Given the description of an element on the screen output the (x, y) to click on. 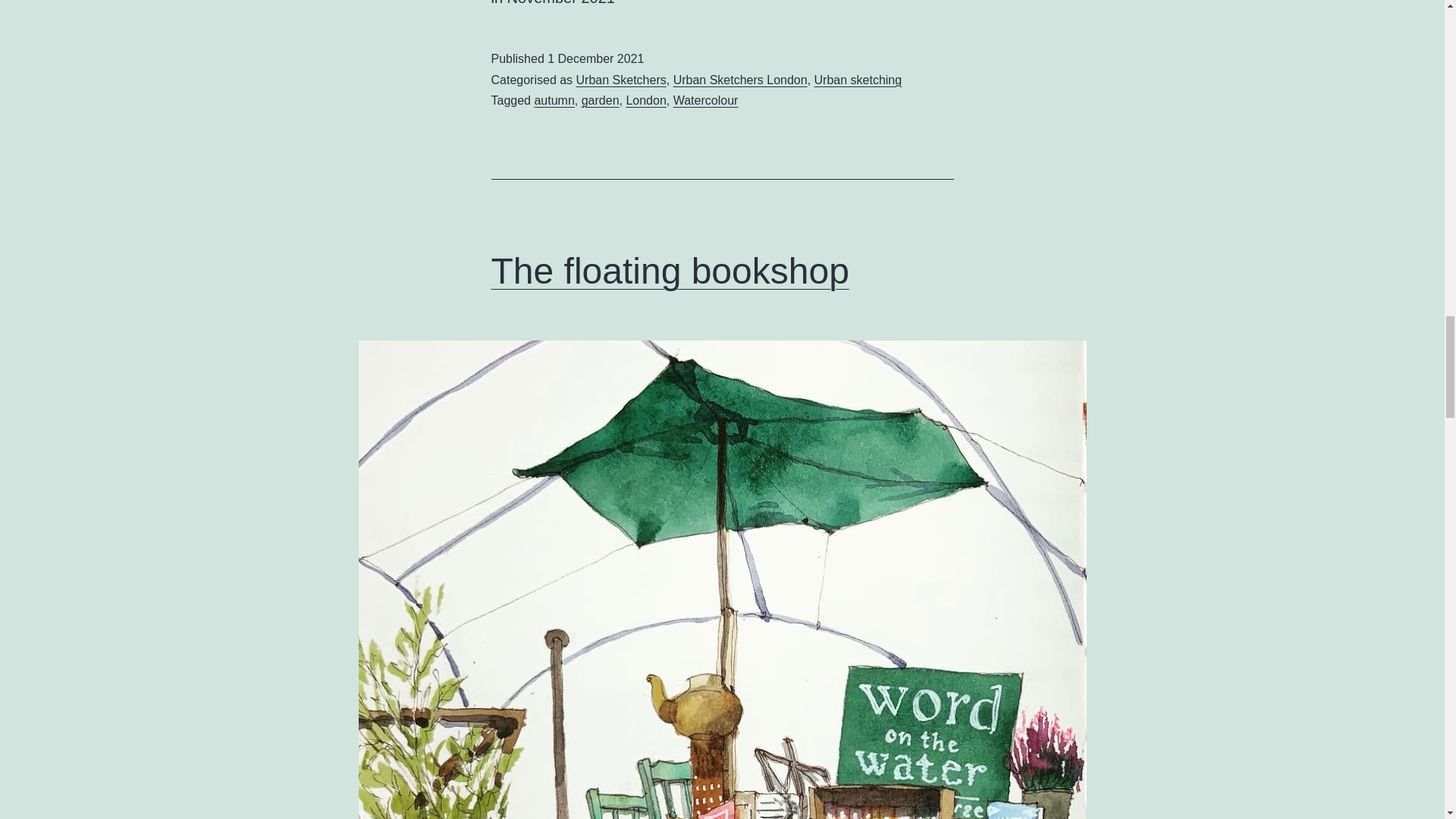
London (645, 100)
Watercolour (705, 100)
Urban Sketchers London (740, 79)
Urban Sketchers (621, 79)
garden (600, 100)
autumn (553, 100)
The floating bookshop (670, 270)
Urban sketching (857, 79)
